Given the description of an element on the screen output the (x, y) to click on. 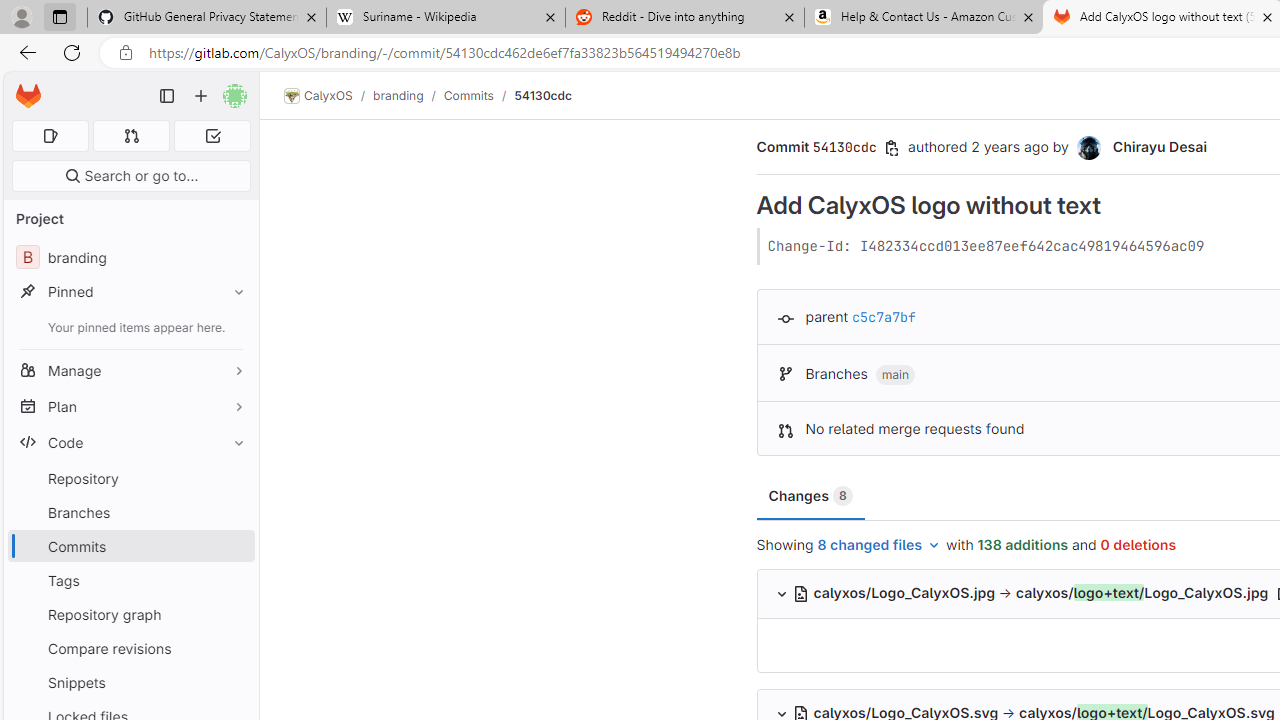
54130cdc (543, 95)
Bbranding (130, 257)
branding/ (408, 95)
Pinned (130, 291)
